Given the description of an element on the screen output the (x, y) to click on. 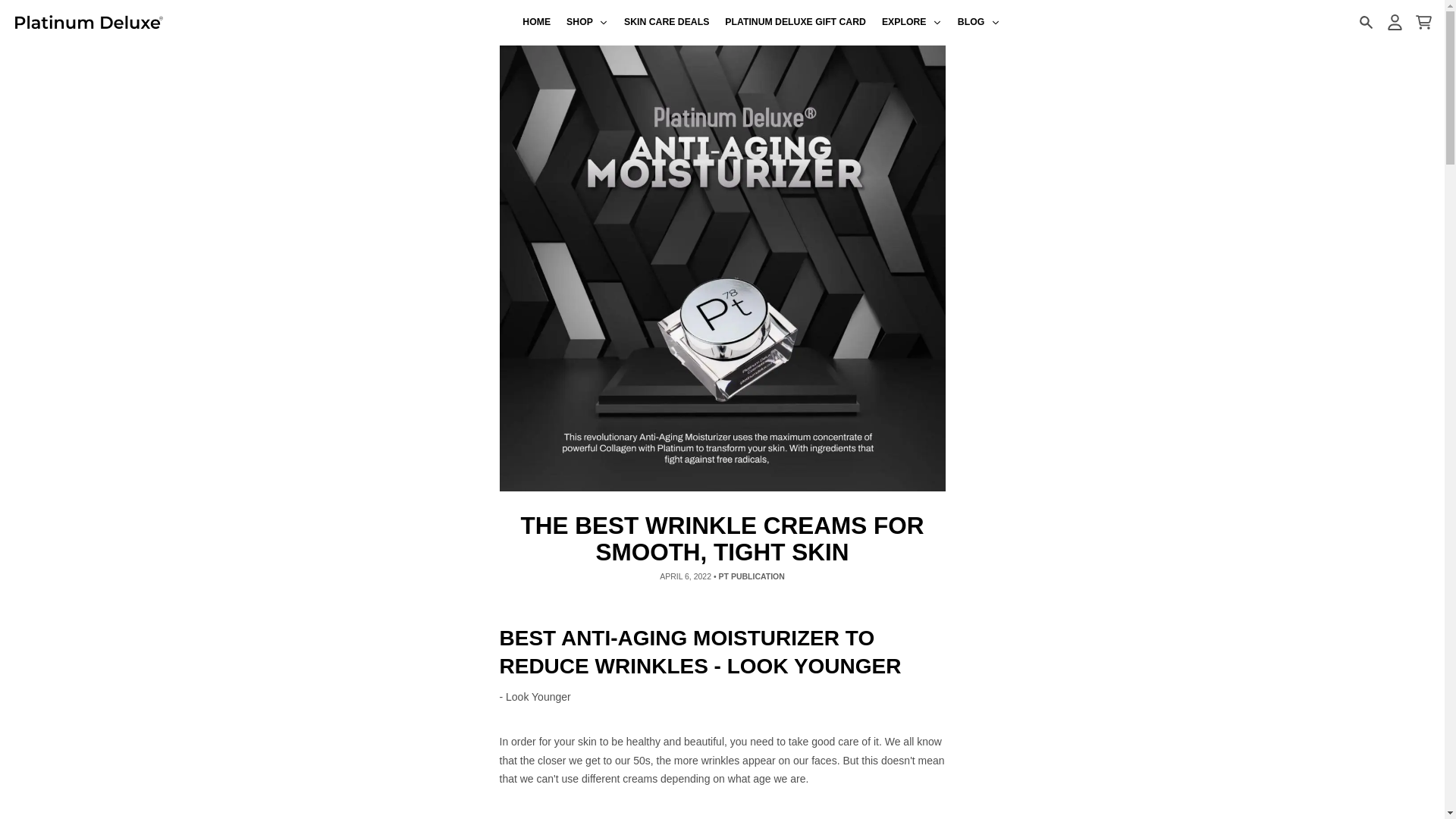
Cart (1423, 22)
Skip to content (18, 7)
Account (1394, 22)
Search (1364, 22)
PLATINUM DELUXE GIFT CARD (796, 22)
SKIN CARE DEALS (666, 22)
HOME (537, 22)
